Given the description of an element on the screen output the (x, y) to click on. 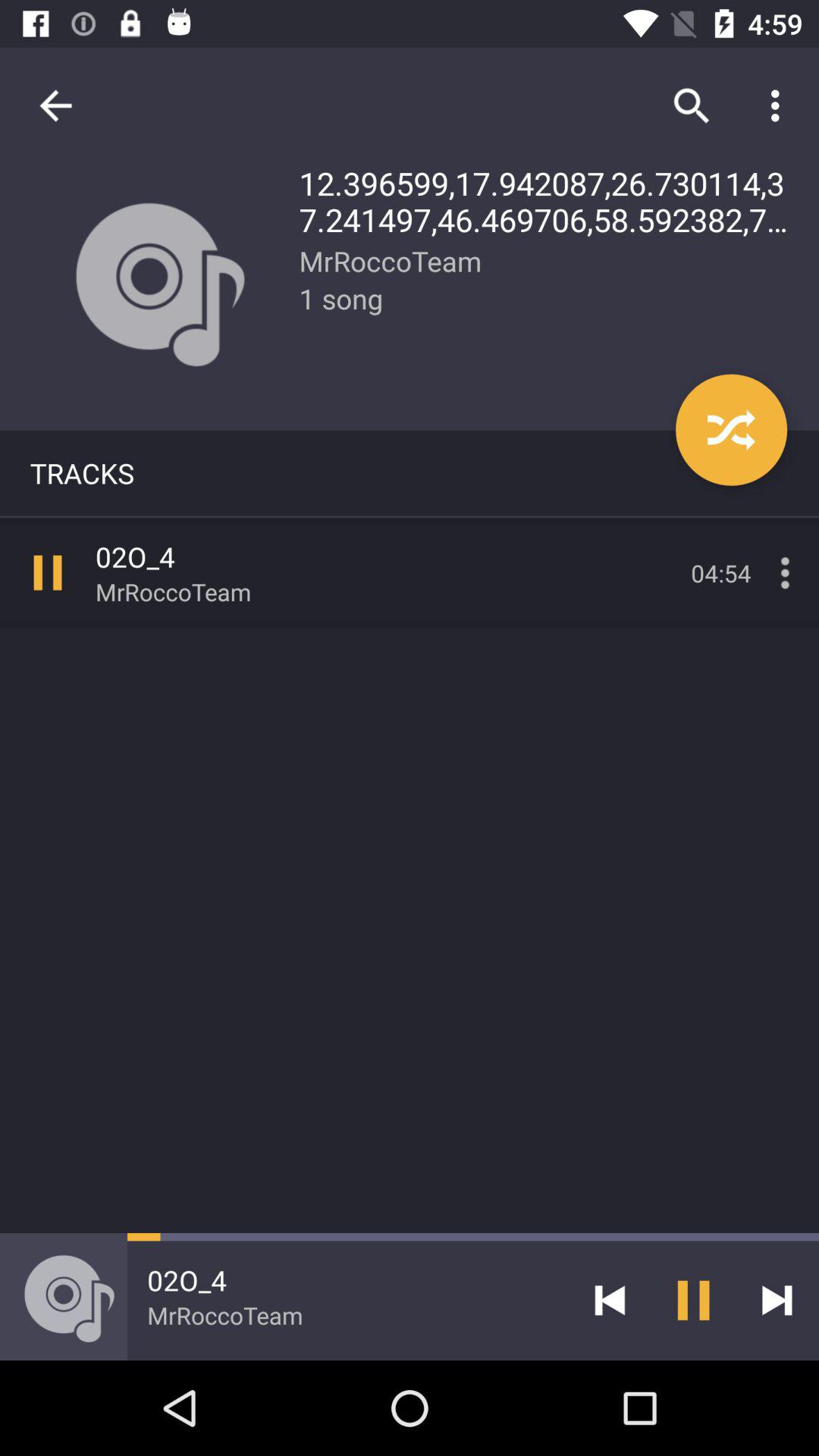
turn on item below 12 396599 17 (731, 429)
